Given the description of an element on the screen output the (x, y) to click on. 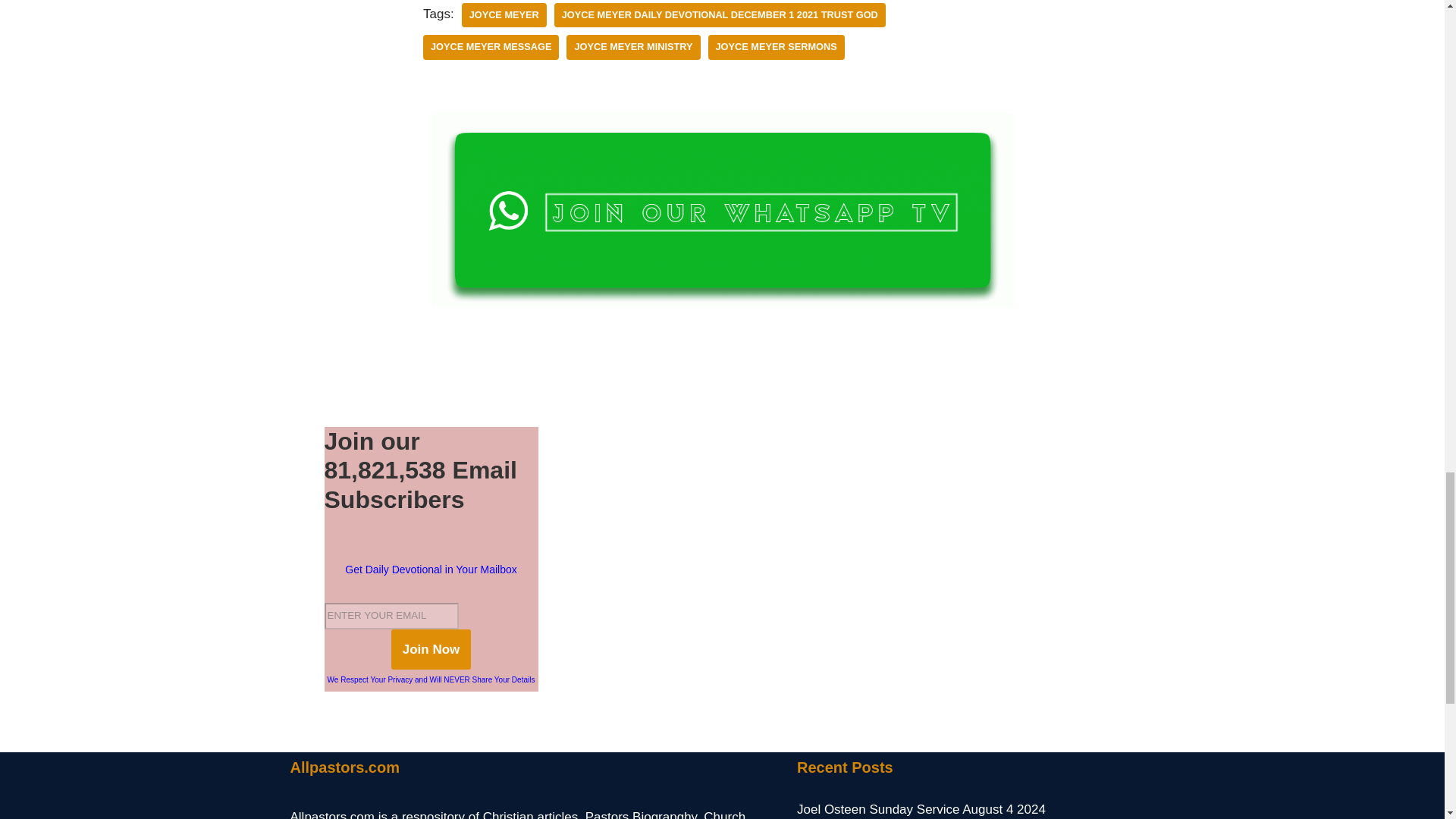
Joyce Meyer Daily Devotional December 1 2021 Trust God (719, 15)
JOYCE MEYER DAILY DEVOTIONAL DECEMBER 1 2021 TRUST GOD (719, 15)
Joyce Meyer Message (491, 47)
JOYCE MEYER (504, 15)
JOYCE MEYER MINISTRY (633, 47)
JOYCE MEYER MESSAGE (491, 47)
JOYCE MEYER SERMONS (775, 47)
Joyce Meyer Ministry (633, 47)
Joyce Meyer (504, 15)
